Given the description of an element on the screen output the (x, y) to click on. 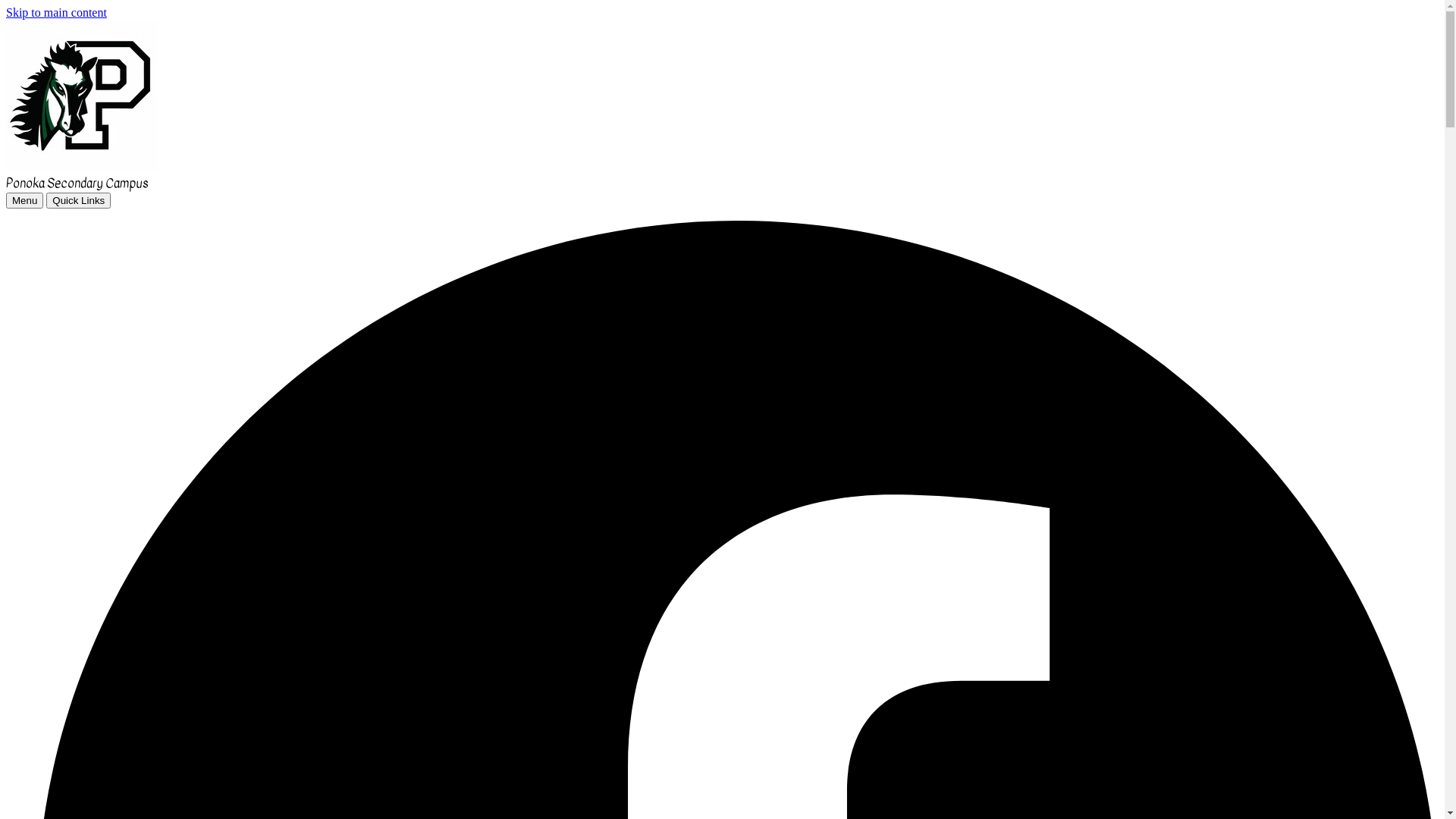
Menu Element type: text (24, 200)
Skip to main content Element type: text (56, 12)
Quick Links Element type: text (78, 200)
home Element type: hover (81, 166)
